Given the description of an element on the screen output the (x, y) to click on. 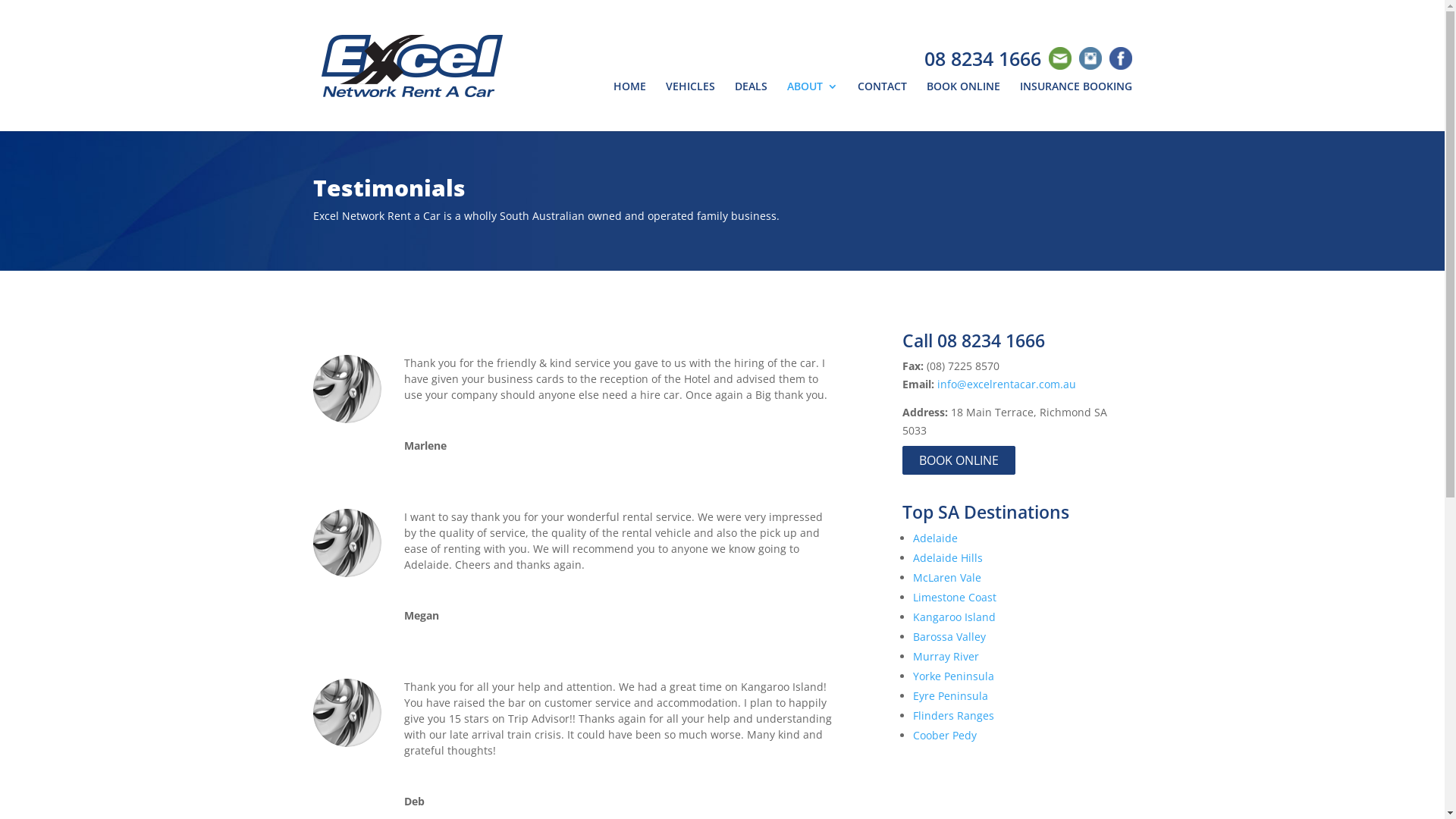
BOOK ONLINE Element type: text (963, 106)
Adelaide Element type: text (935, 537)
VEHICLES Element type: text (690, 106)
Limestone Coast Element type: text (954, 596)
CONTACT Element type: text (881, 106)
DEALS Element type: text (750, 106)
McLaren Vale Element type: text (947, 577)
Adelaide Hills Element type: text (947, 557)
Yorke Peninsula Element type: text (953, 675)
info@excelrentacar.com.au Element type: text (1006, 383)
Eyre Peninsula Element type: text (950, 695)
Flinders Ranges Element type: text (953, 715)
08 8234 1666 Element type: text (990, 340)
Barossa Valley Element type: text (949, 636)
BOOK ONLINE Element type: text (958, 459)
08 8234 1666 Element type: text (981, 58)
Coober Pedy Element type: text (944, 735)
ABOUT Element type: text (812, 106)
Murray River Element type: text (946, 656)
HOME Element type: text (628, 106)
INSURANCE BOOKING Element type: text (1075, 106)
Kangaroo Island Element type: text (954, 616)
